Given the description of an element on the screen output the (x, y) to click on. 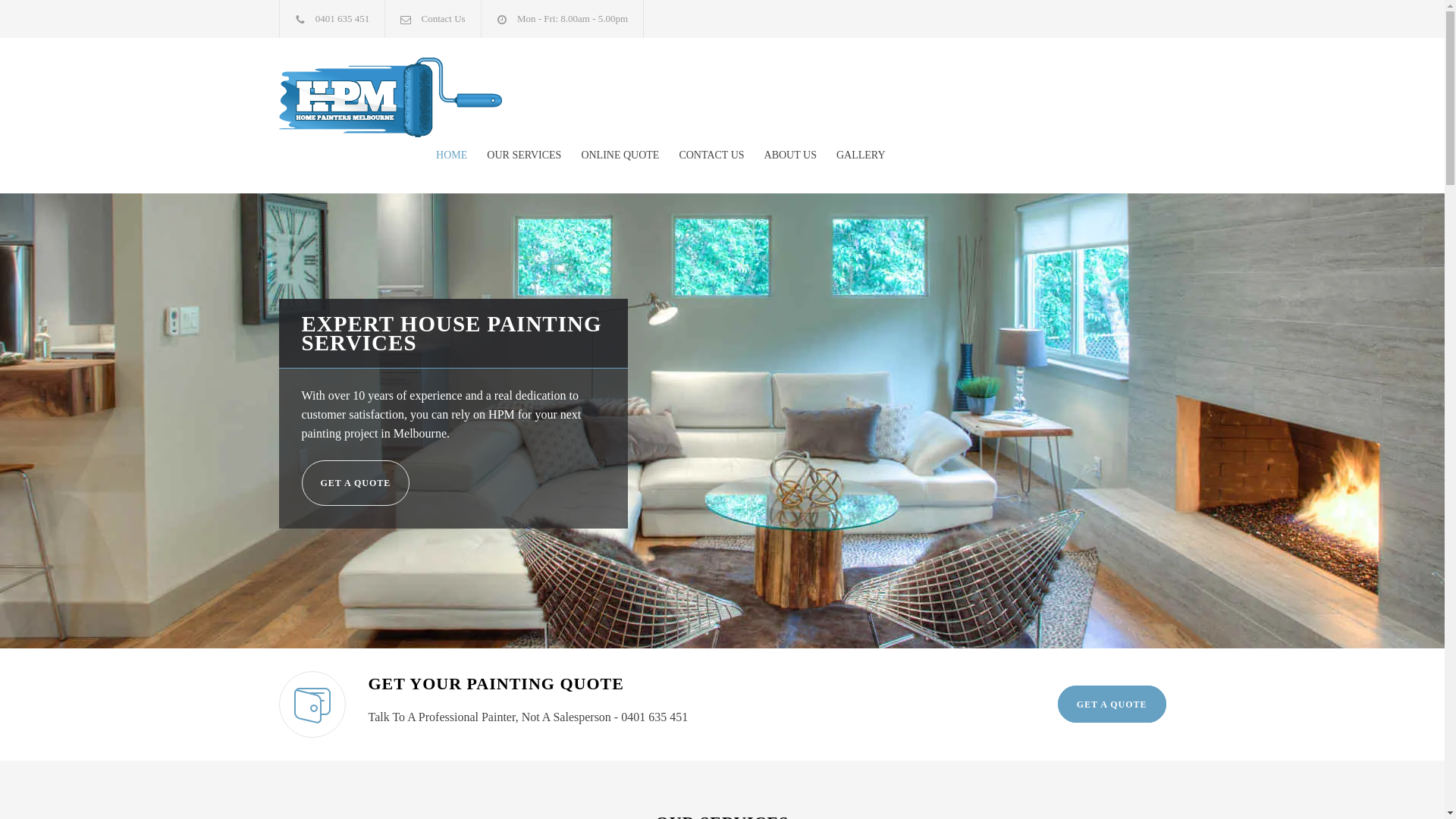
GET A QUOTE Element type: text (1111, 703)
ABOUT US Element type: text (780, 155)
ONLINE QUOTE Element type: text (609, 155)
CONTACT US Element type: text (700, 155)
0401 635 451 Element type: text (342, 18)
GALLERY Element type: text (850, 155)
Home Painters Melbourne Element type: hover (419, 97)
HOME Element type: text (451, 155)
OUR SERVICES Element type: text (514, 155)
Contact Us Element type: text (443, 18)
GET A QUOTE Element type: text (355, 482)
